Given the description of an element on the screen output the (x, y) to click on. 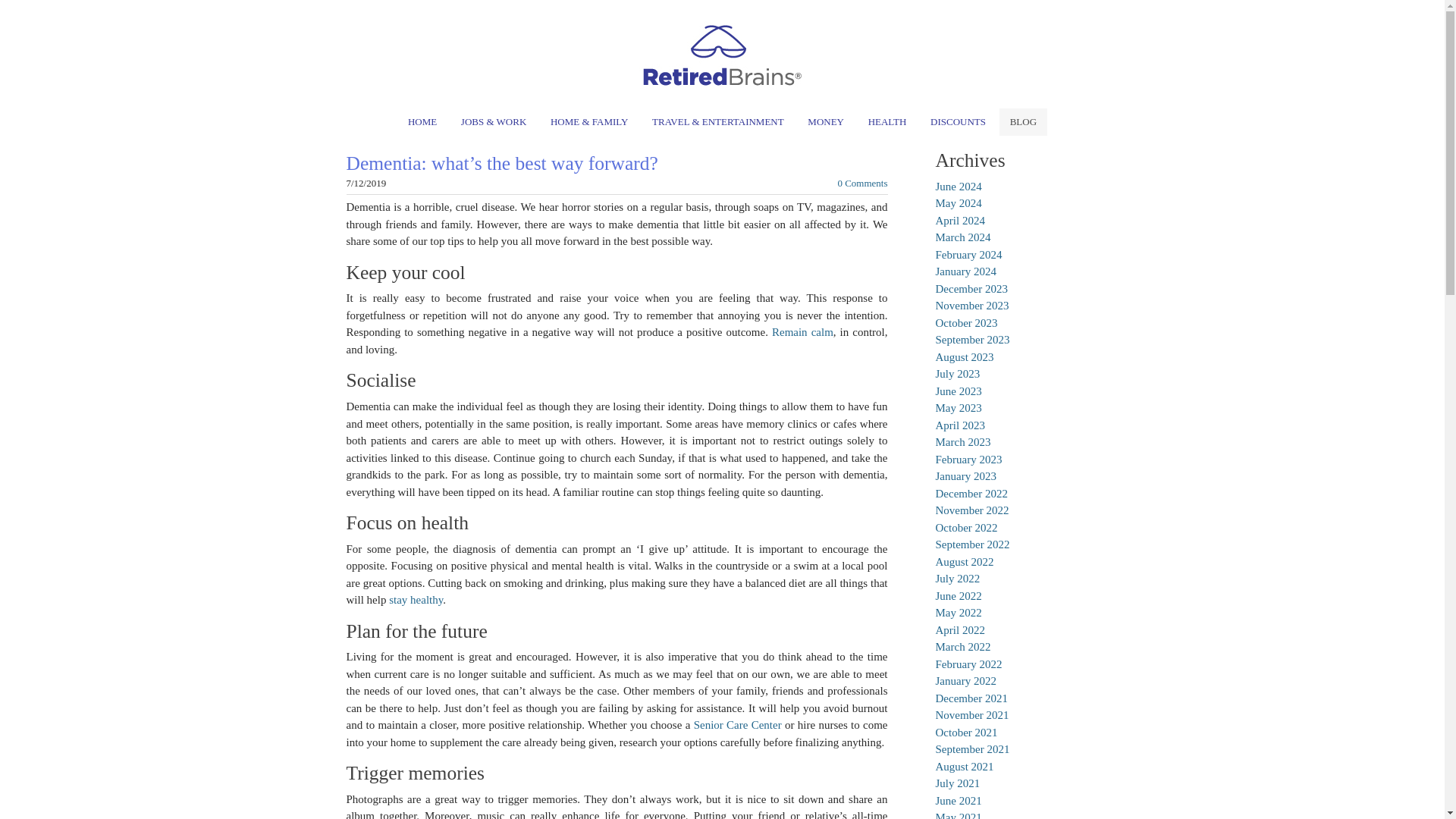
January 2023 (965, 476)
May 2023 (958, 408)
April 2024 (960, 220)
MONEY (825, 121)
March 2023 (963, 441)
August 2023 (965, 357)
September 2023 (973, 339)
February 2024 (969, 254)
January 2024 (965, 271)
September 2022 (973, 544)
March 2024 (963, 236)
July 2023 (957, 373)
BLOG (1022, 121)
May 2024 (958, 203)
October 2022 (966, 527)
